Given the description of an element on the screen output the (x, y) to click on. 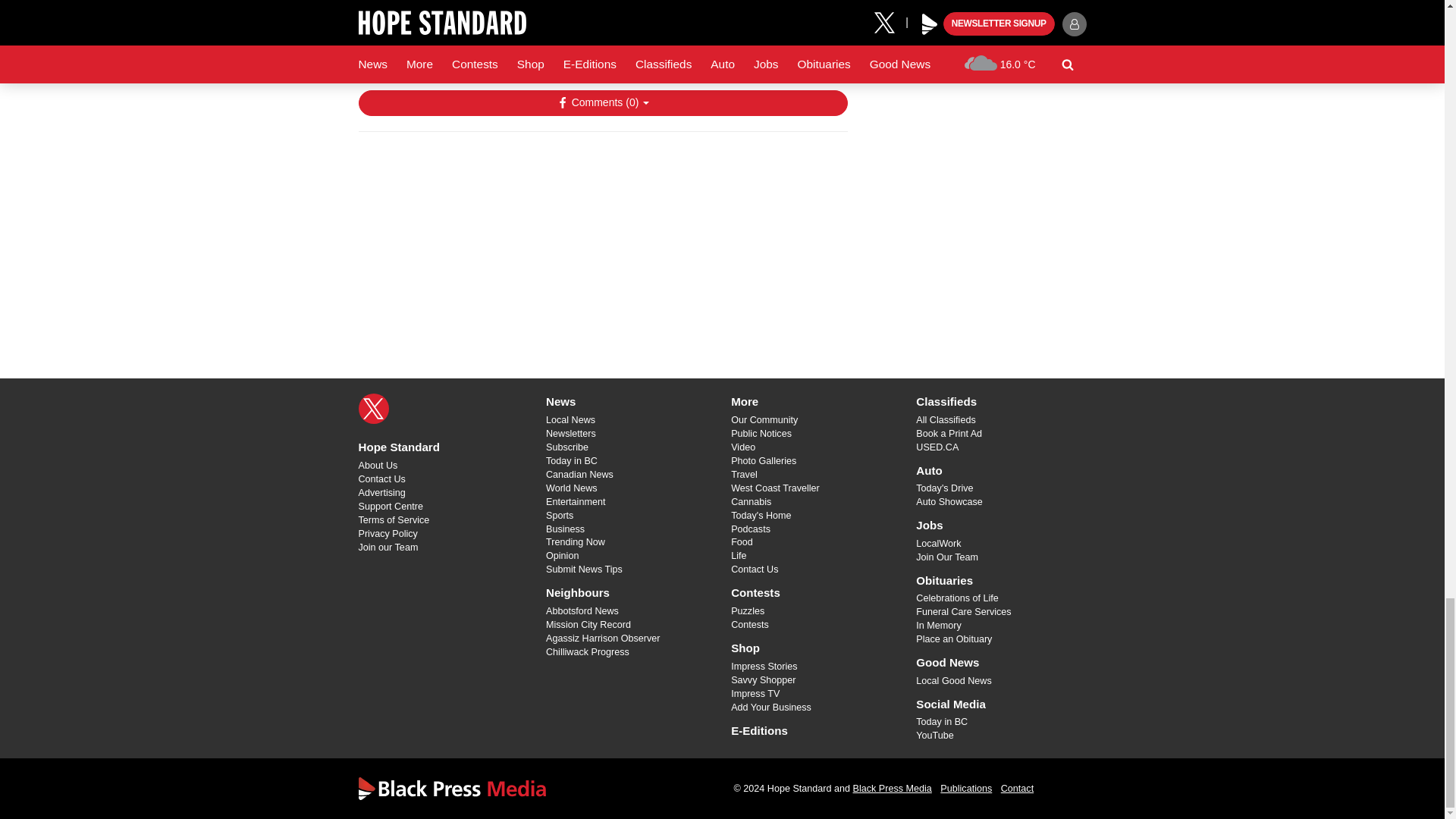
X (373, 408)
Show Comments (602, 103)
3rd party ad content (602, 241)
